Given the description of an element on the screen output the (x, y) to click on. 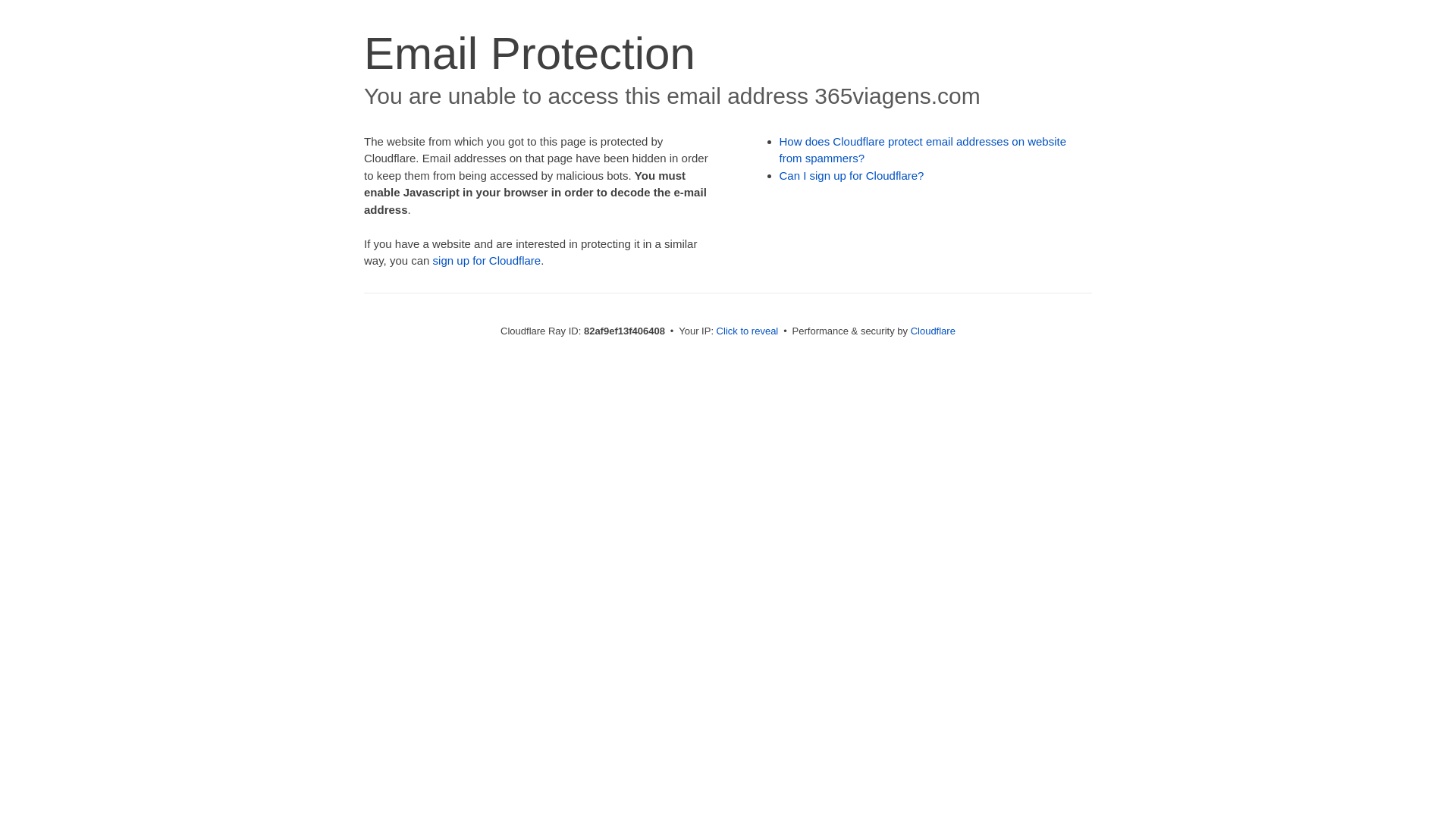
Cloudflare Element type: text (932, 330)
Can I sign up for Cloudflare? Element type: text (851, 175)
Click to reveal Element type: text (747, 330)
sign up for Cloudflare Element type: text (487, 260)
